Given the description of an element on the screen output the (x, y) to click on. 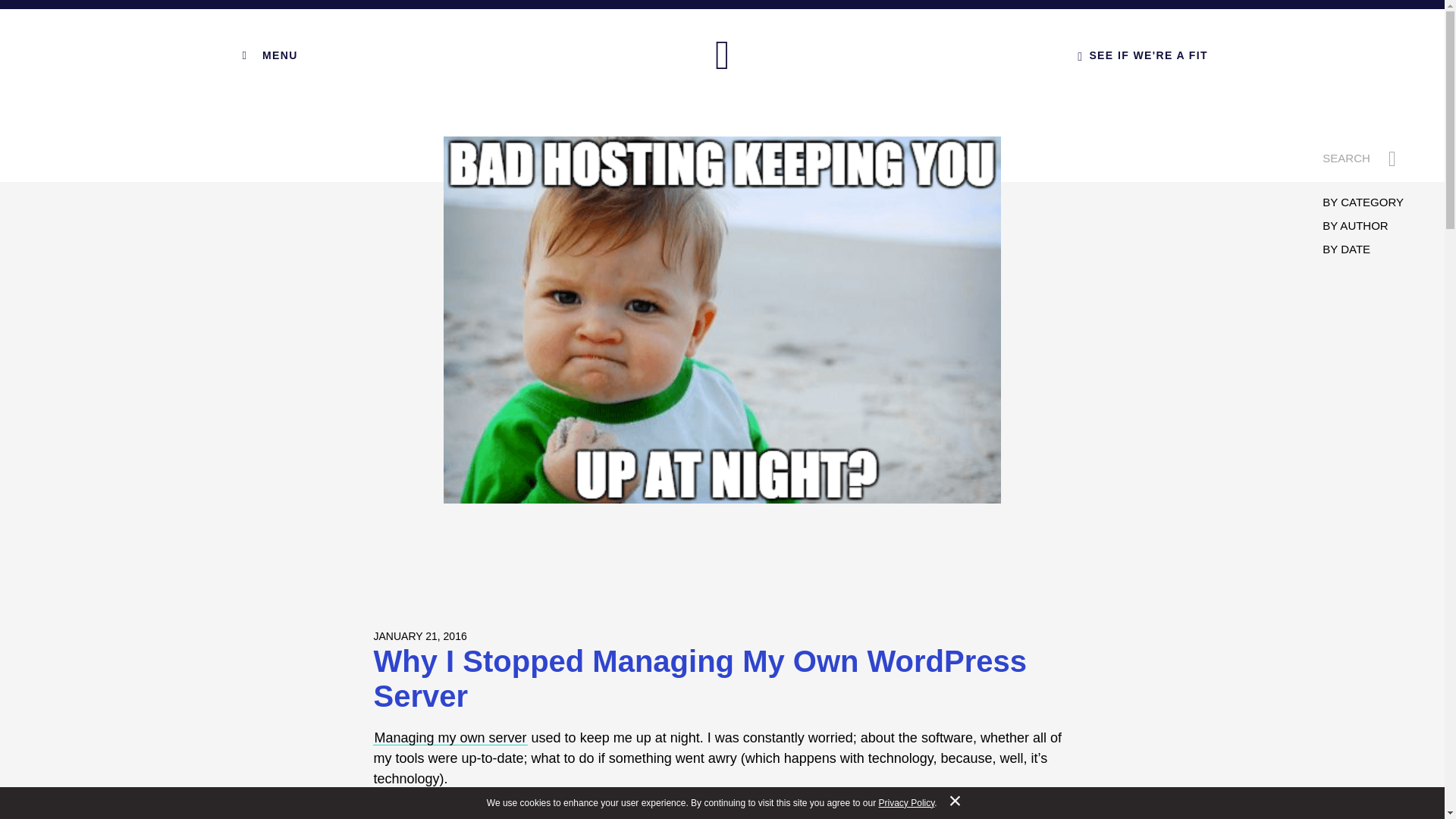
SEE IF WE'RE A FIT (1142, 54)
MENU (266, 54)
JANUARY 21, 2016 (418, 635)
Managing my own server (449, 737)
